Given the description of an element on the screen output the (x, y) to click on. 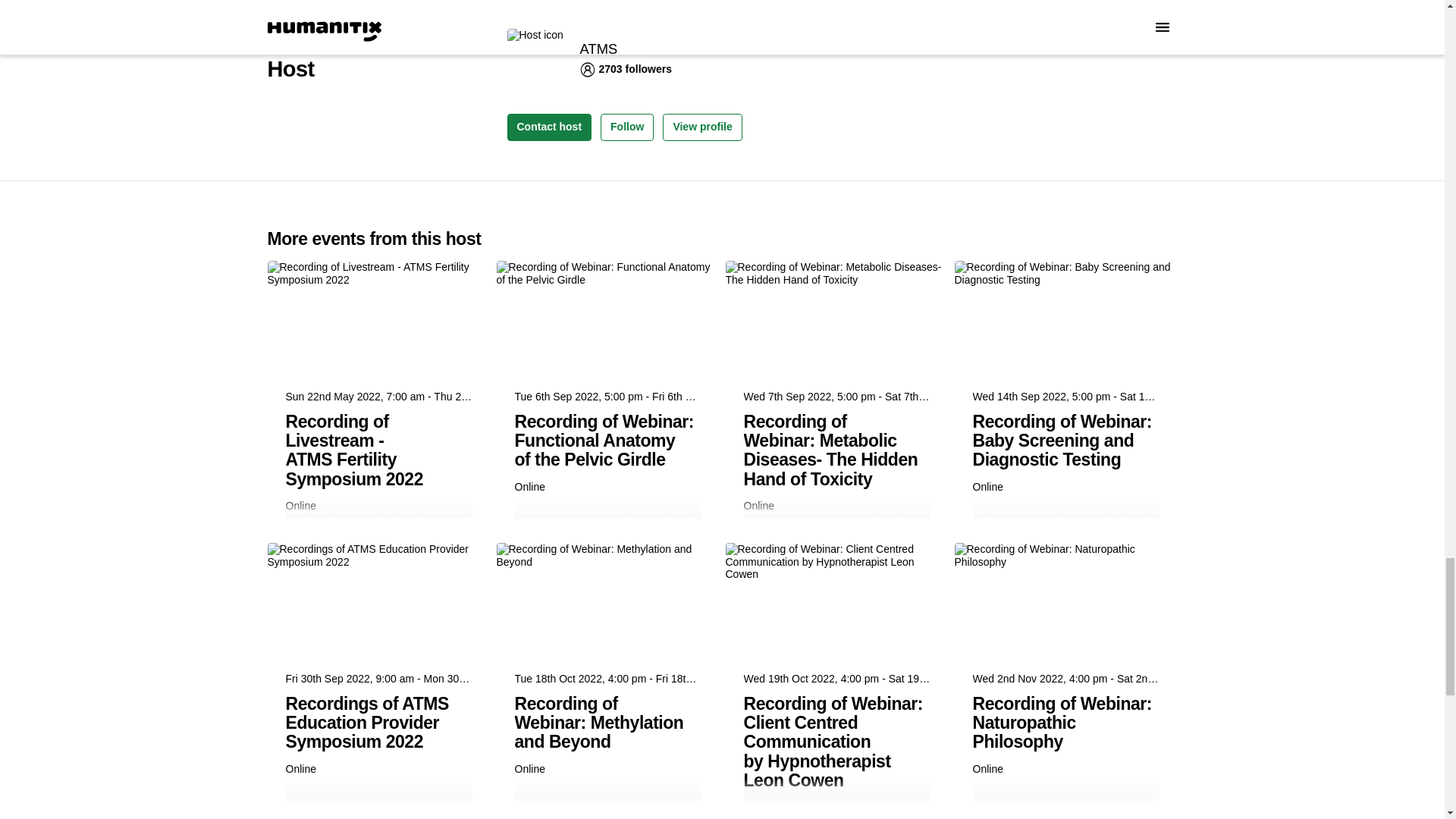
Follow (626, 126)
Contact host (548, 126)
View profile (701, 126)
